Given the description of an element on the screen output the (x, y) to click on. 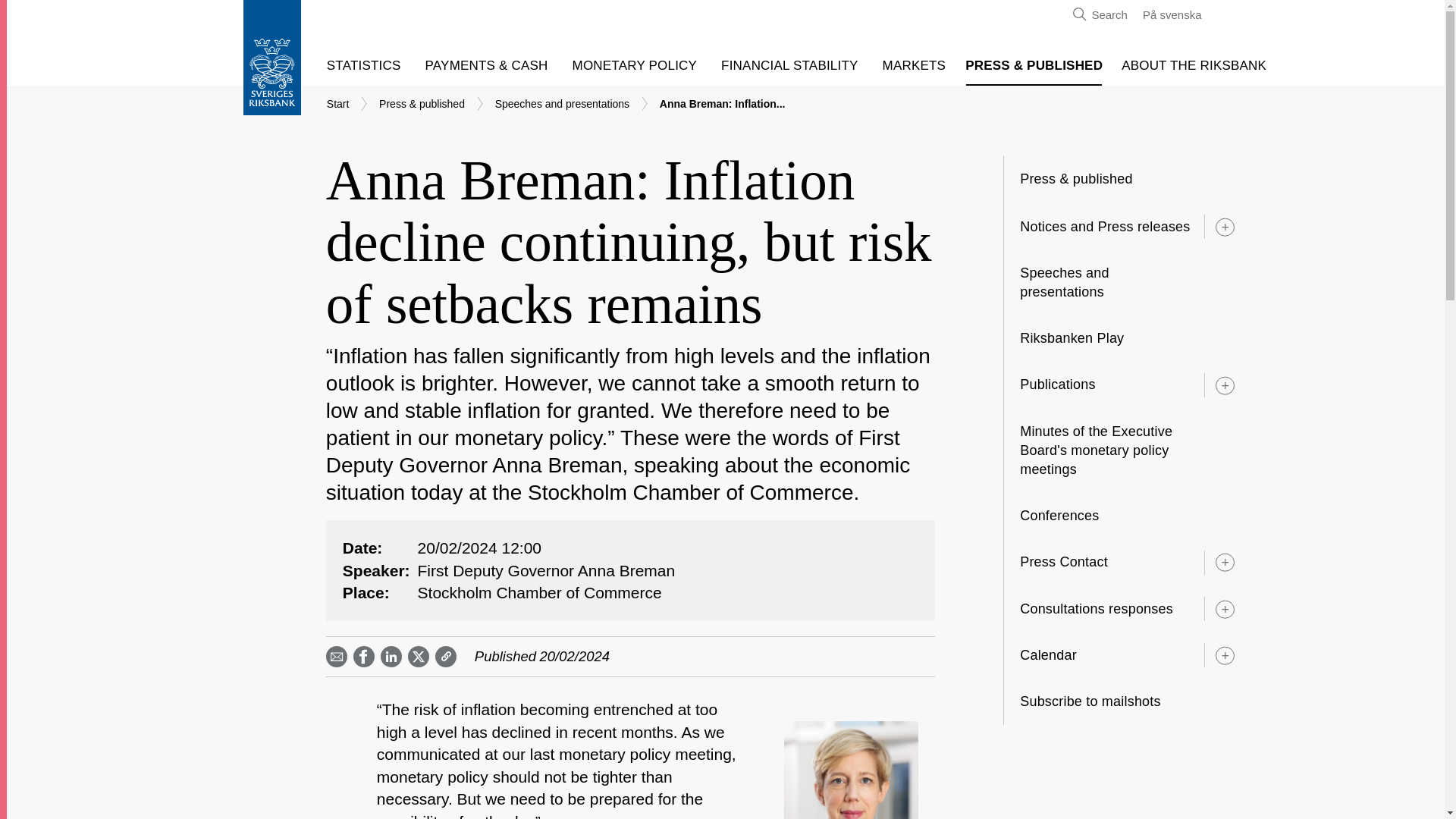
Conferences (1075, 515)
Speeches and presentations (1124, 282)
Notices and Press releases (1099, 226)
Riksbanken Play (1088, 338)
Minutes of the Executive Board's monetary policy meetings (1124, 450)
Press Contact (1058, 561)
Consultations responses (1091, 609)
Subscribe to mailshots (1106, 701)
Publications (1052, 384)
Calendar (1043, 655)
STATISTICS (368, 65)
